Given the description of an element on the screen output the (x, y) to click on. 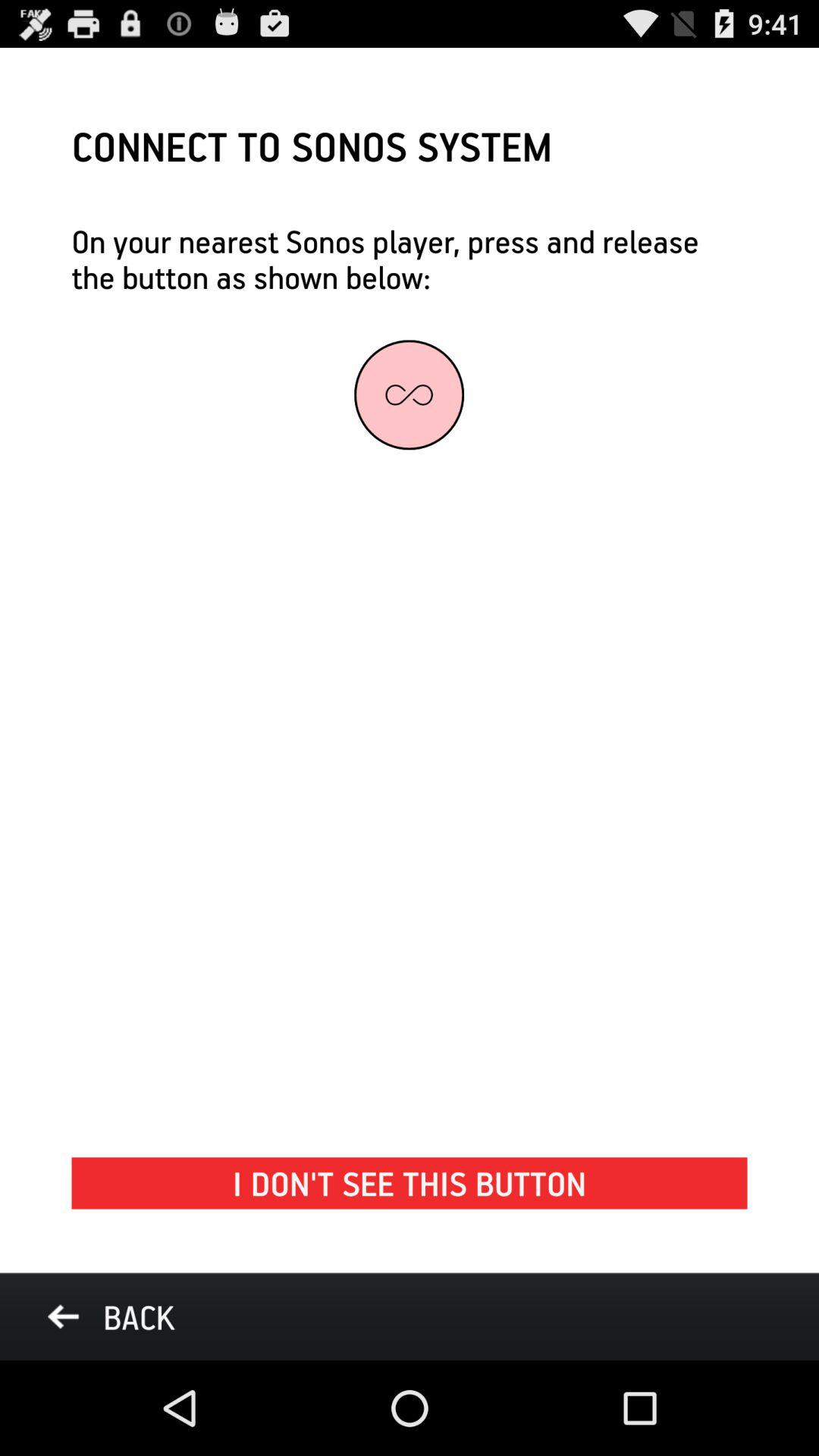
select back icon (111, 1316)
